Given the description of an element on the screen output the (x, y) to click on. 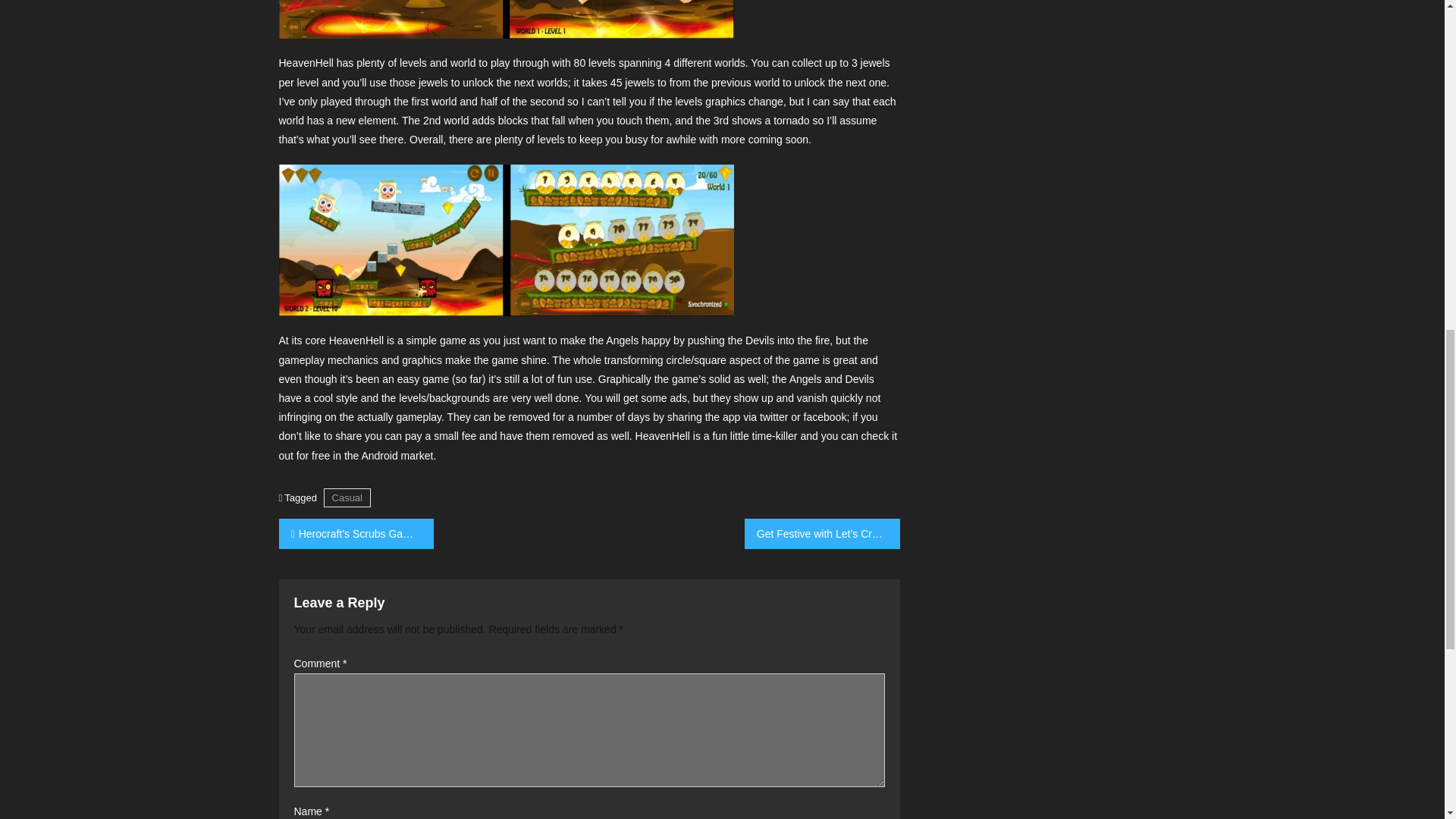
Casual (347, 497)
